Given the description of an element on the screen output the (x, y) to click on. 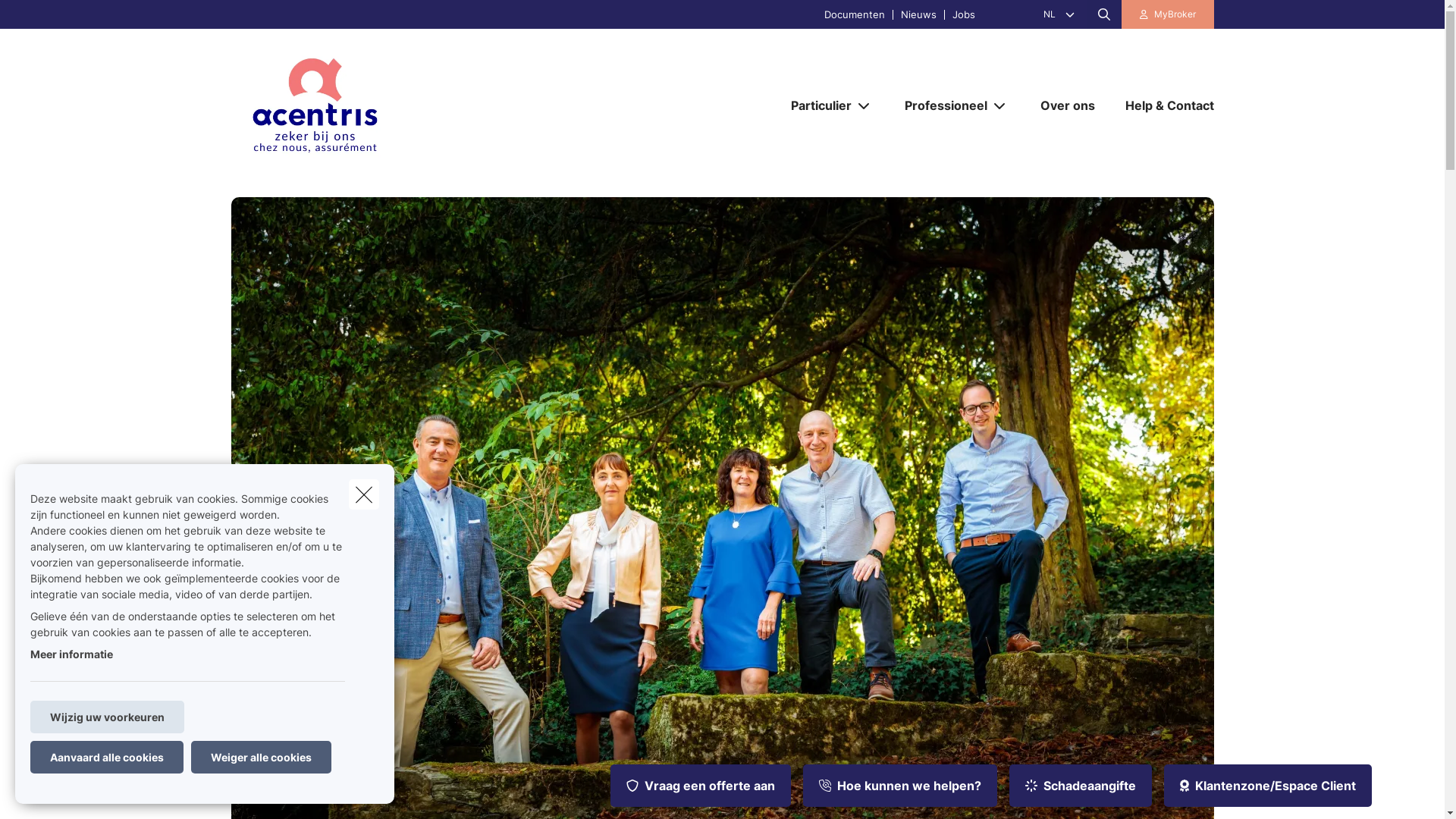
Help & Contact Element type: text (1162, 104)
Klantenzone/Espace Client Element type: text (1267, 785)
Jobs Element type: text (963, 13)
Aanvaard alle cookies Element type: text (106, 756)
Professioneel Element type: text (939, 104)
Zoeken Element type: text (42, 18)
Wijzig uw voorkeuren Element type: text (107, 716)
Weiger alle cookies Element type: text (261, 756)
Over ons Element type: text (1067, 104)
Vraag een offerte aan Element type: text (700, 785)
Schadeaangifte Element type: text (1080, 785)
MyBroker Element type: text (1174, 14)
Hoe kunnen we helpen? Element type: text (900, 785)
Nieuws Element type: text (918, 13)
Particulier Element type: text (814, 104)
Documenten Element type: text (854, 13)
MyBroker Element type: text (1167, 14)
Meer informatie Element type: text (71, 653)
